Given the description of an element on the screen output the (x, y) to click on. 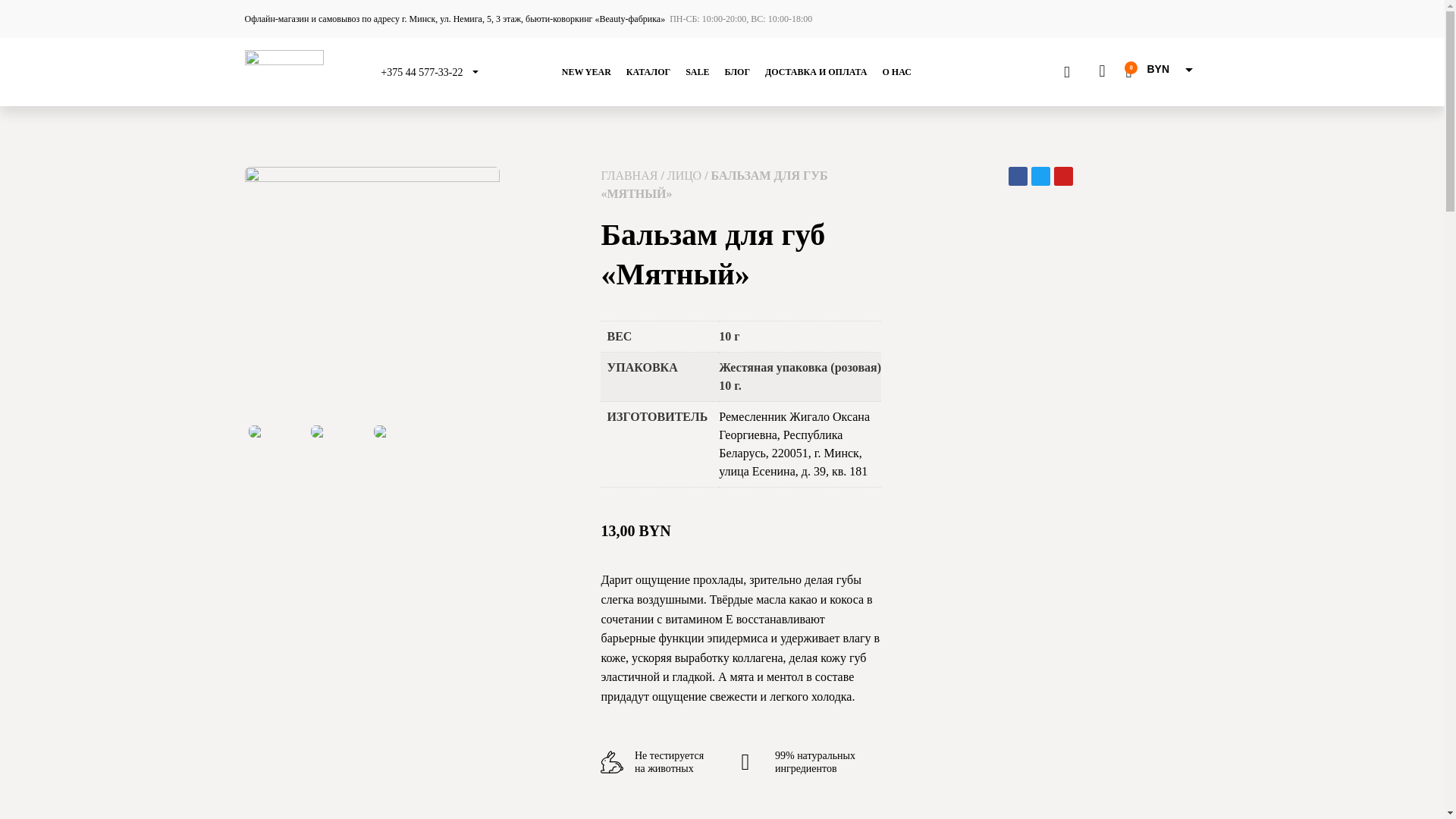
0 Element type: text (1128, 70)
img_4997-scaled Element type: hover (371, 293)
Facebook Element type: text (1017, 175)
SALE Element type: text (697, 71)
NEW YEAR Element type: text (586, 71)
Youtube Element type: text (1063, 175)
+375 44 577-33-22 Element type: text (421, 72)
Twitter Element type: text (1040, 175)
